Given the description of an element on the screen output the (x, y) to click on. 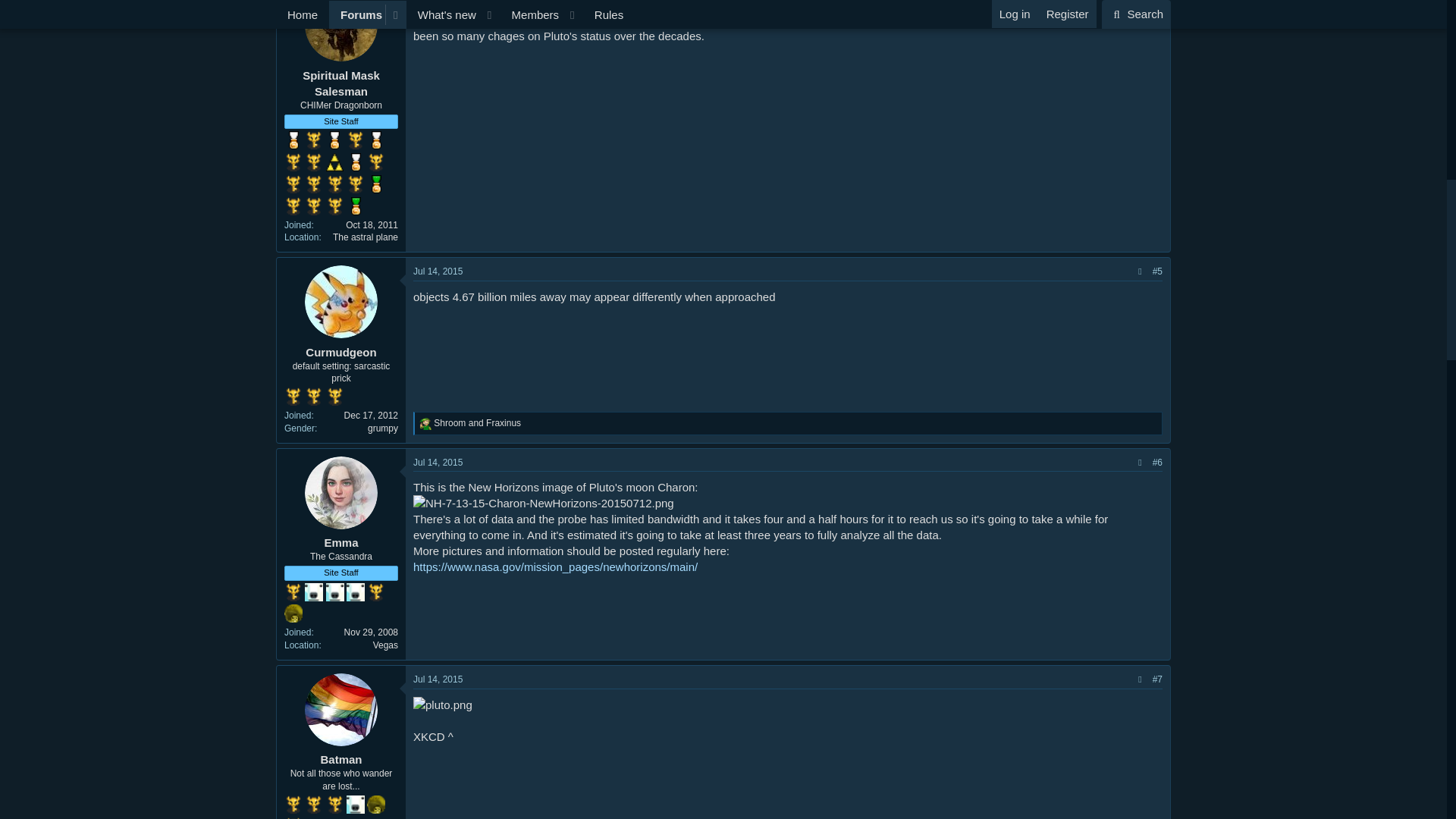
Like (424, 423)
Jul 14, 2015 at 3:07 PM (438, 462)
NH-7-13-15-Charon-NewHorizons-20150712.png (543, 503)
Jul 14, 2015 at 3:00 PM (438, 271)
